Given the description of an element on the screen output the (x, y) to click on. 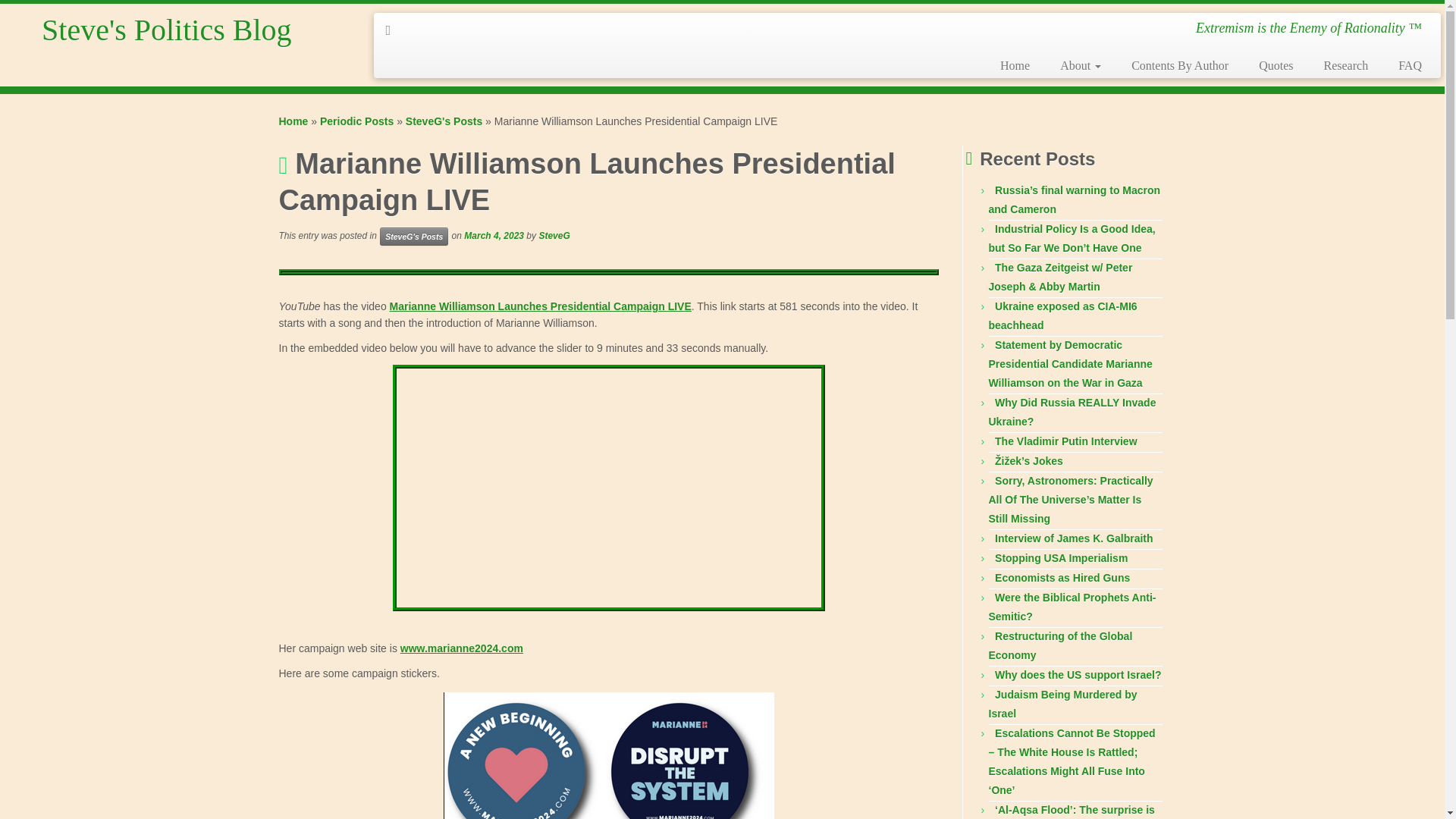
Steve's Politics Blog (166, 30)
FAQ (1402, 65)
The Vladimir Putin Interview (1065, 440)
Home (293, 121)
View all posts by SteveG (553, 235)
Steve's Politics Blog (293, 121)
About (1080, 65)
SteveG (553, 235)
SteveG's Posts (443, 121)
Economists as Hired Guns (1061, 577)
10:22 pm (494, 235)
YouTube video player (609, 487)
Contents By Author (1179, 65)
Stopping USA Imperialism (1060, 558)
March 4, 2023 (494, 235)
